Given the description of an element on the screen output the (x, y) to click on. 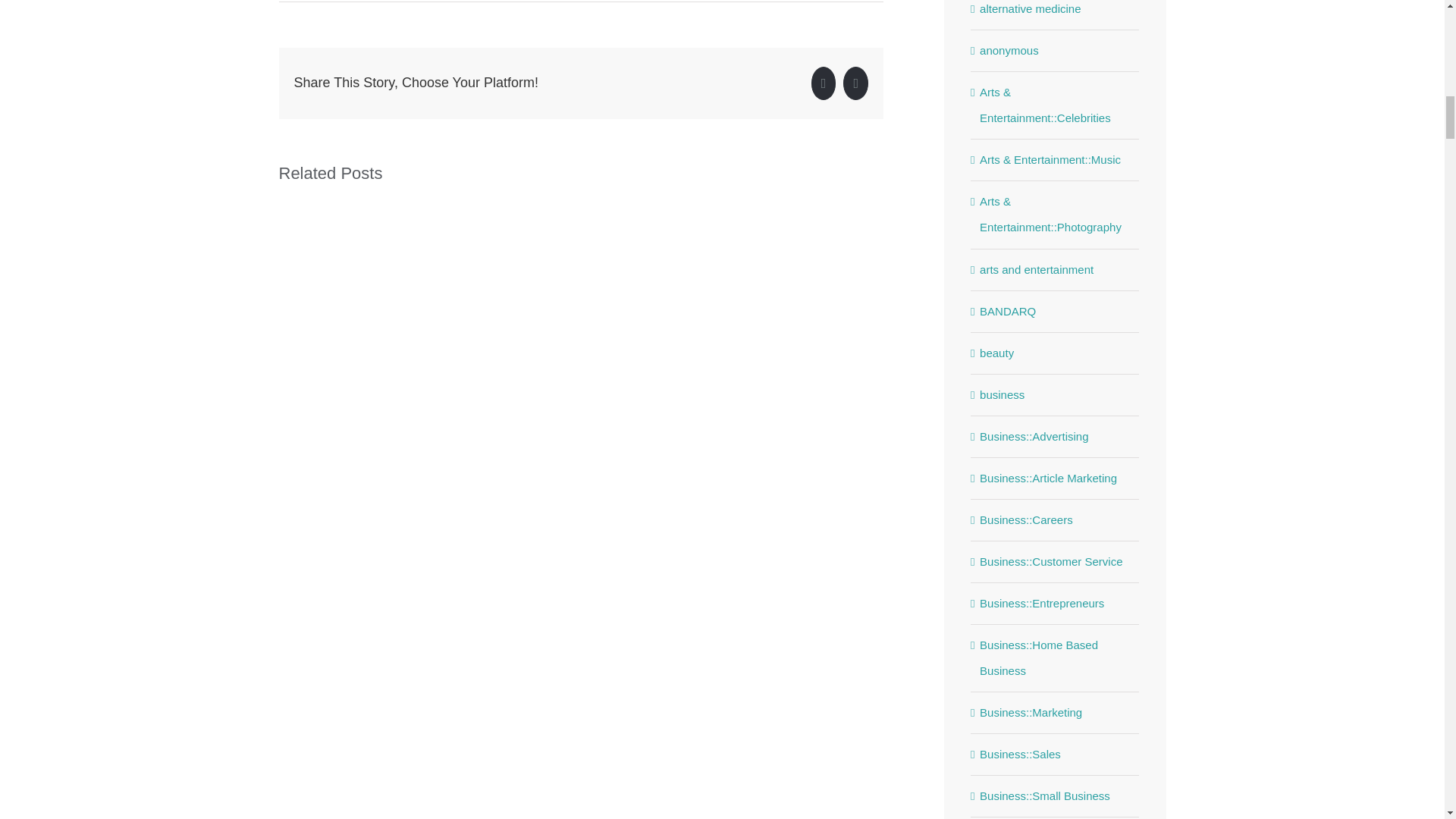
LinkedIn (855, 82)
Facebook (822, 82)
BANDARQ (1055, 311)
arts and entertainment (1055, 269)
Facebook (822, 82)
business (1055, 394)
anonymous (1055, 50)
alternative medicine (1055, 11)
beauty (1055, 353)
LinkedIn (855, 82)
